Given the description of an element on the screen output the (x, y) to click on. 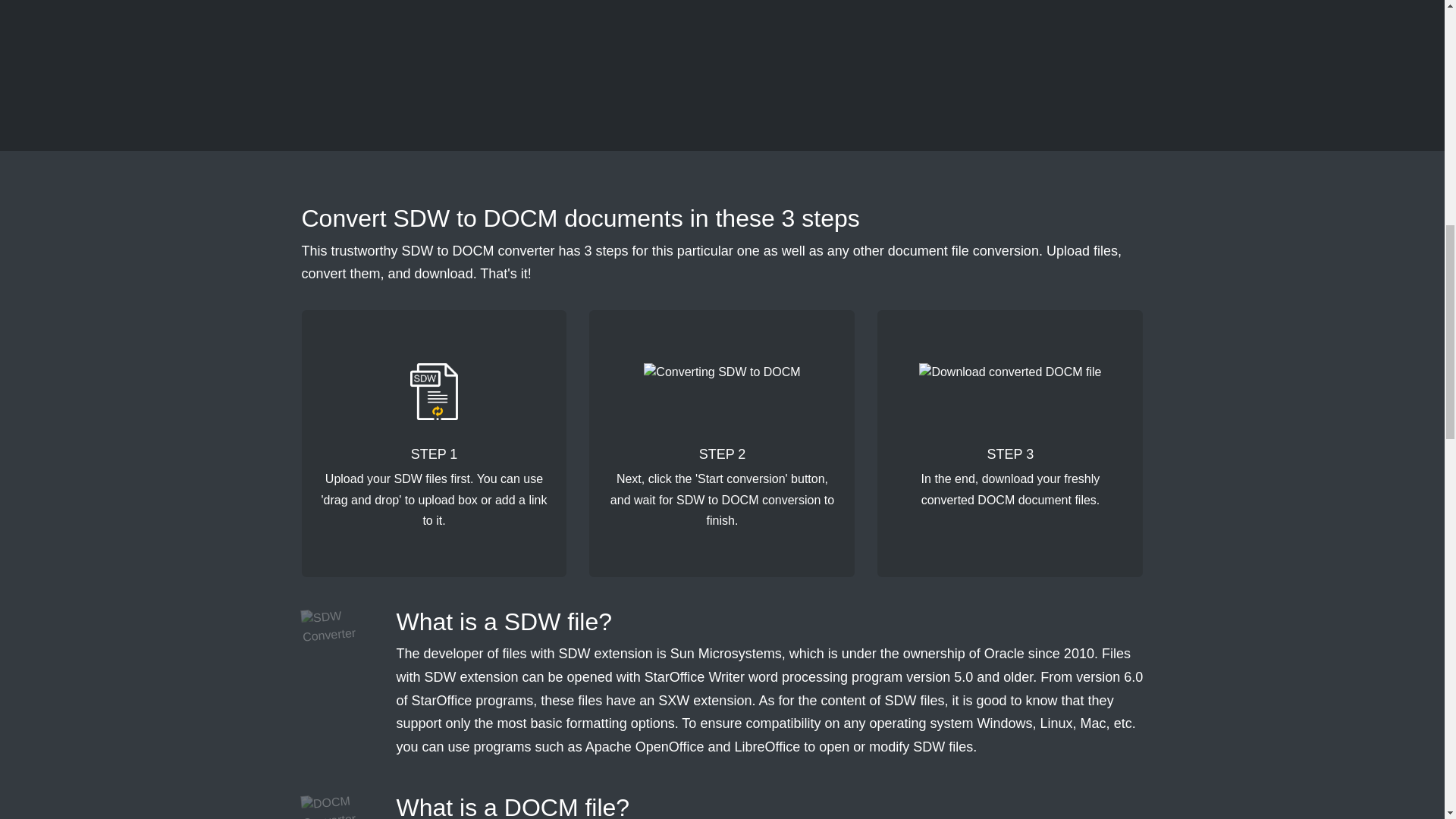
Converting SDW to DOCM (721, 391)
Download converted DOCM file (1009, 391)
